Given the description of an element on the screen output the (x, y) to click on. 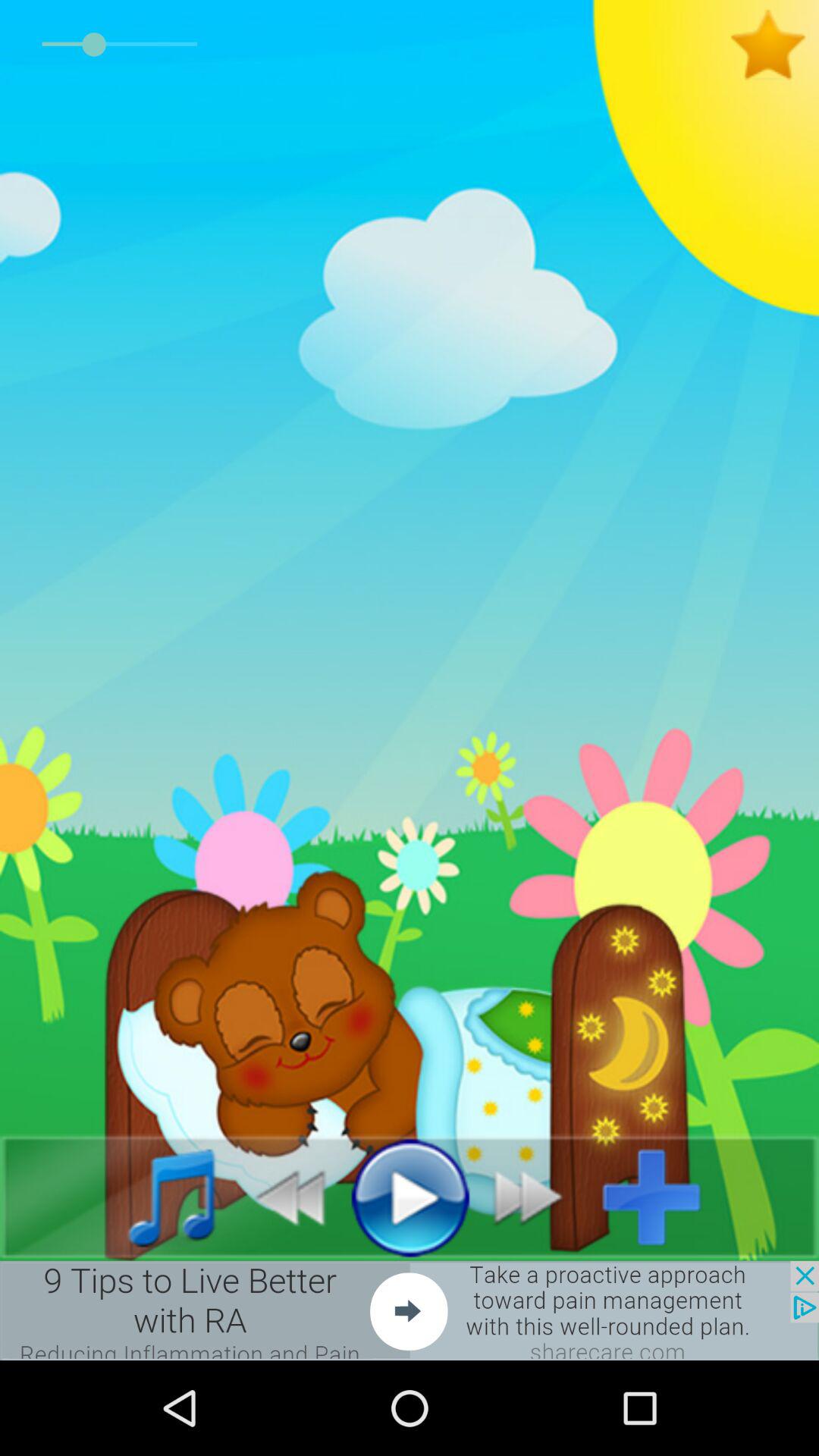
music option (154, 1196)
